Given the description of an element on the screen output the (x, y) to click on. 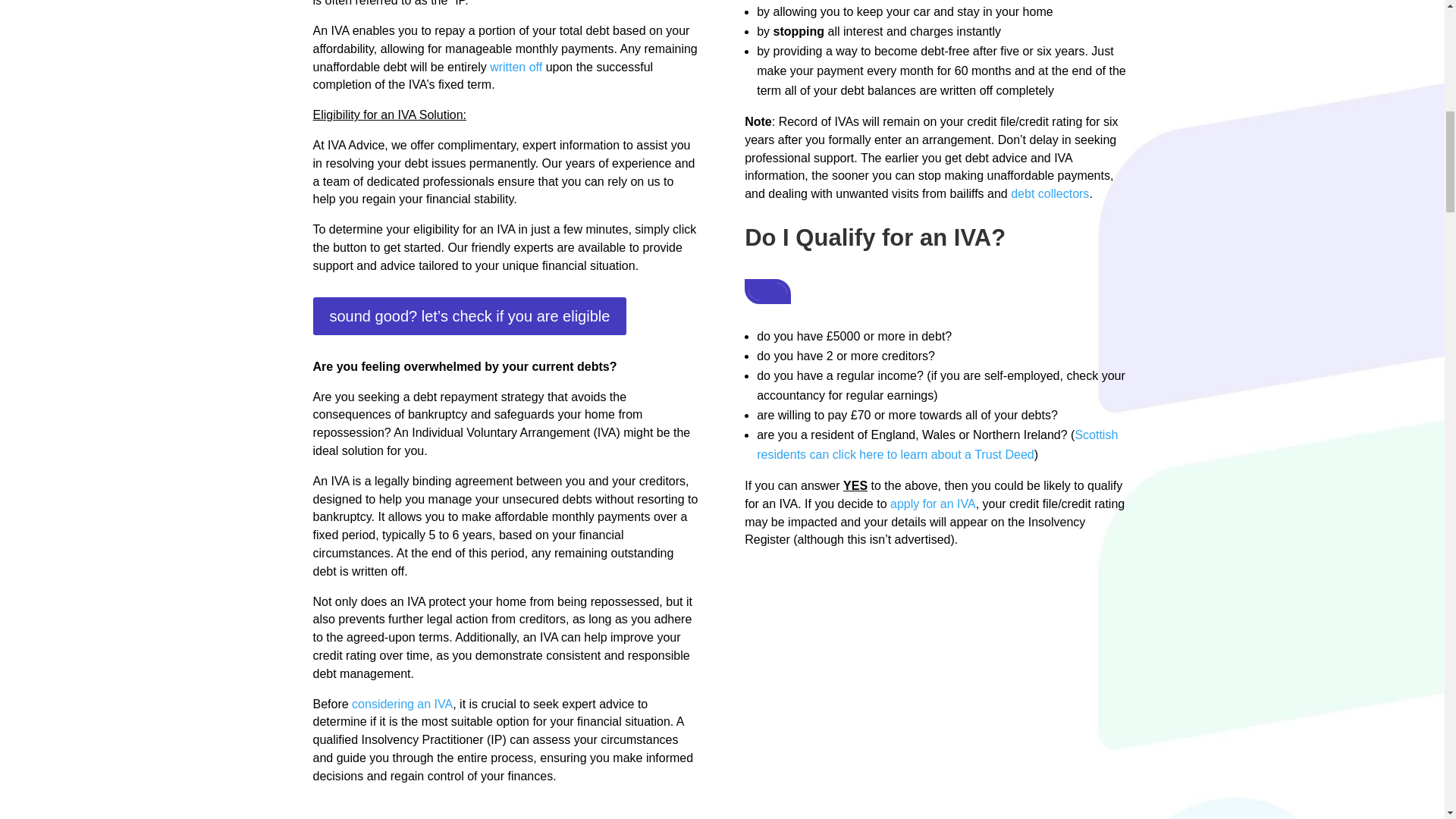
written off (515, 66)
considering an IVA (402, 703)
apply for an IVA (932, 503)
debt collectors (1049, 193)
